Given the description of an element on the screen output the (x, y) to click on. 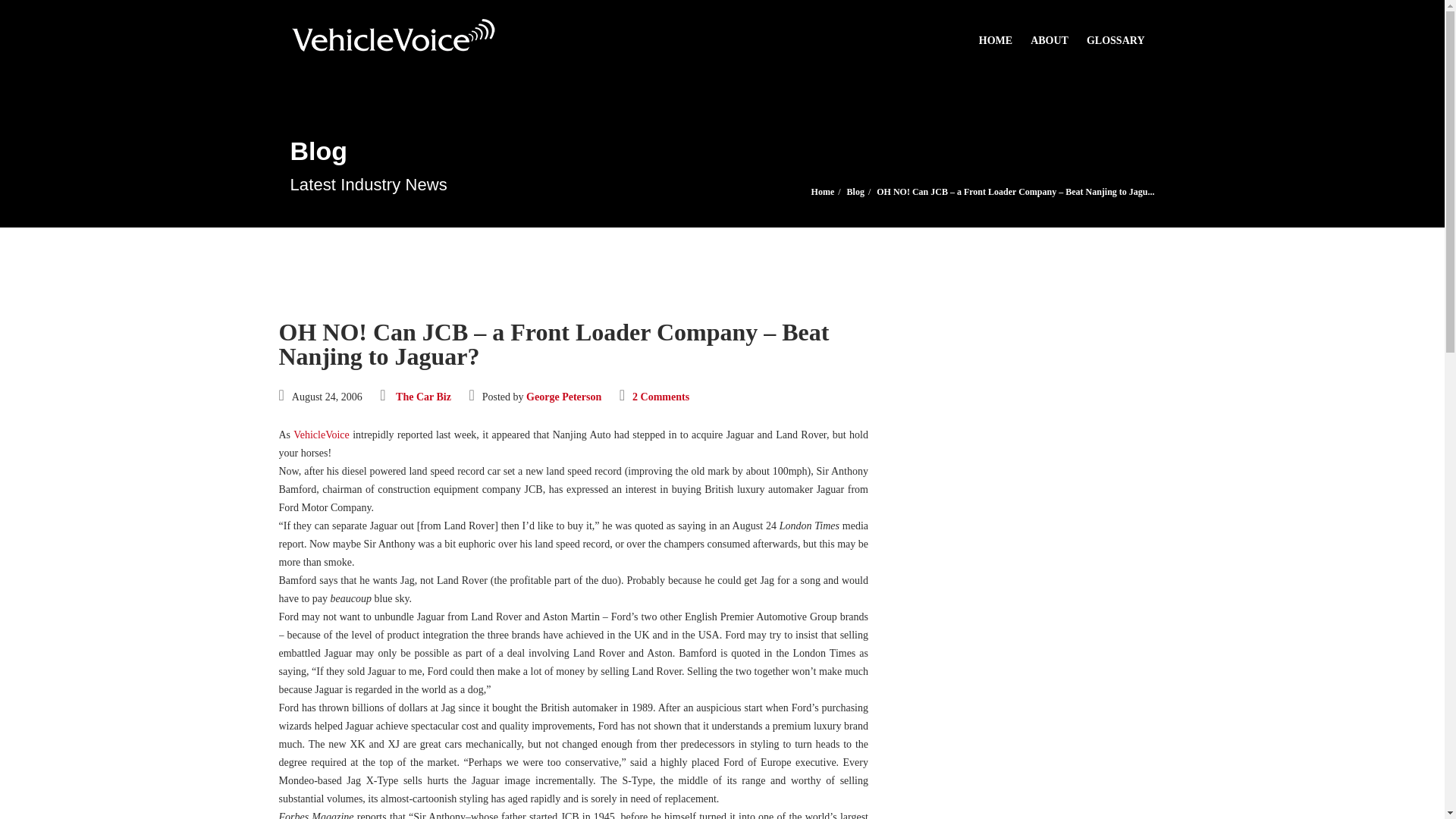
Posts by George Peterson (563, 396)
Home (822, 191)
VehicleVoice (321, 434)
The Car Biz (423, 396)
GLOSSARY (1115, 33)
Blog (855, 191)
2 Comments (659, 396)
George Peterson (563, 396)
